Given the description of an element on the screen output the (x, y) to click on. 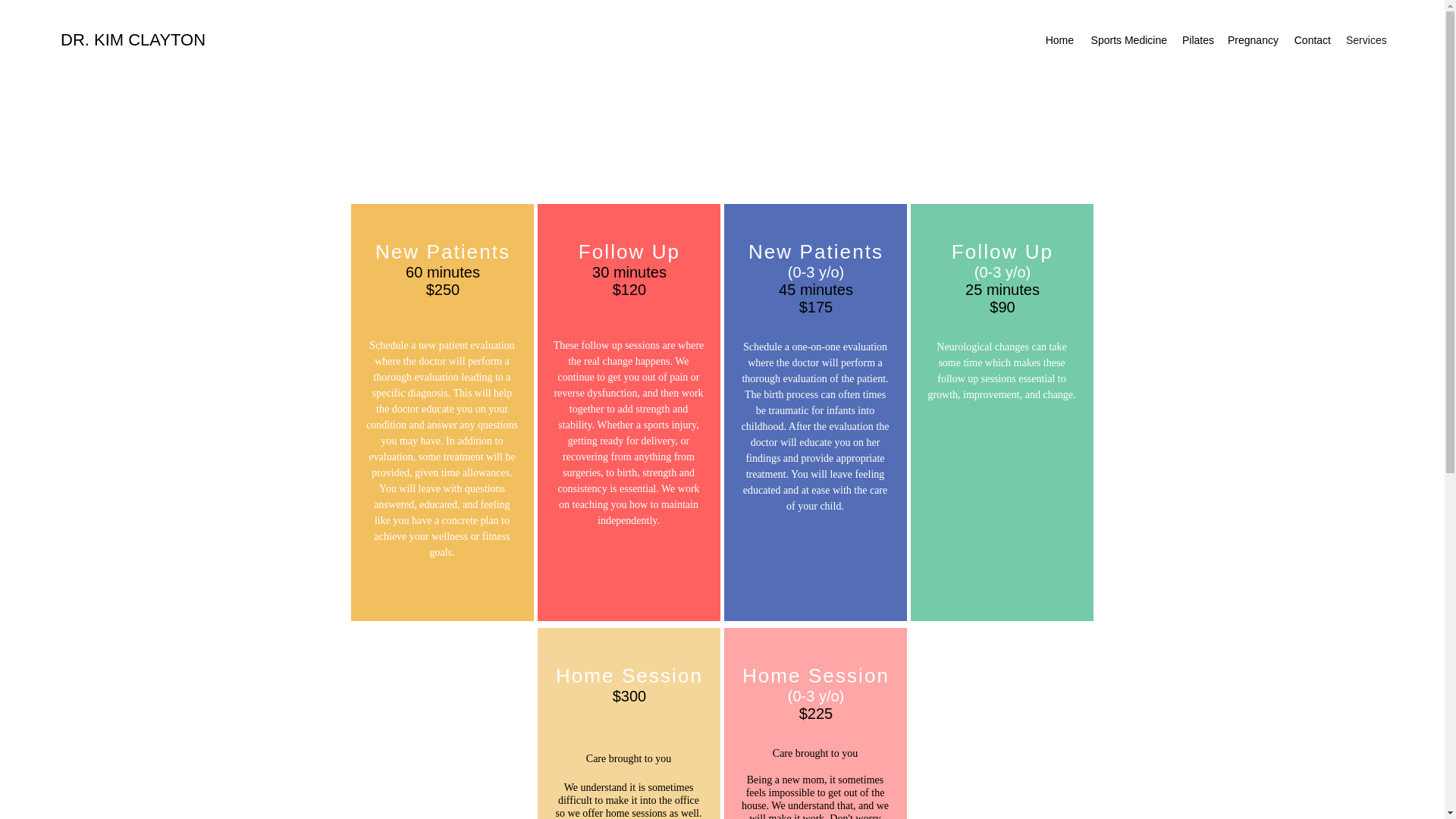
Services (1364, 39)
Contact (1311, 39)
DR. KIM CLAYTON (133, 39)
Home (1058, 39)
